Given the description of an element on the screen output the (x, y) to click on. 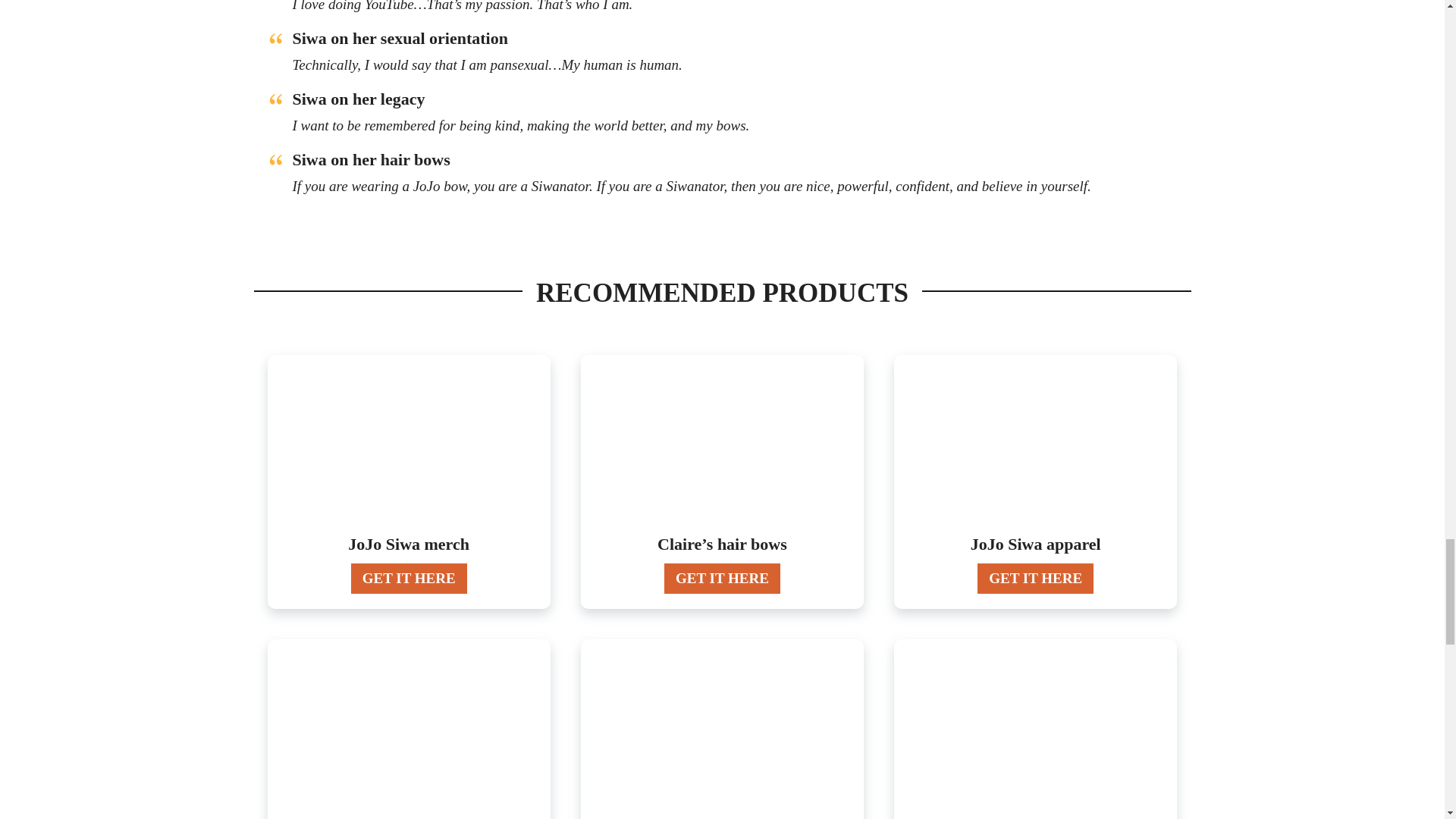
jojo siwa apparel (1035, 445)
jojo siwa accessories at target (721, 729)
jojo siwa merch (408, 445)
ocean spray cranberry sauce (408, 729)
